Given the description of an element on the screen output the (x, y) to click on. 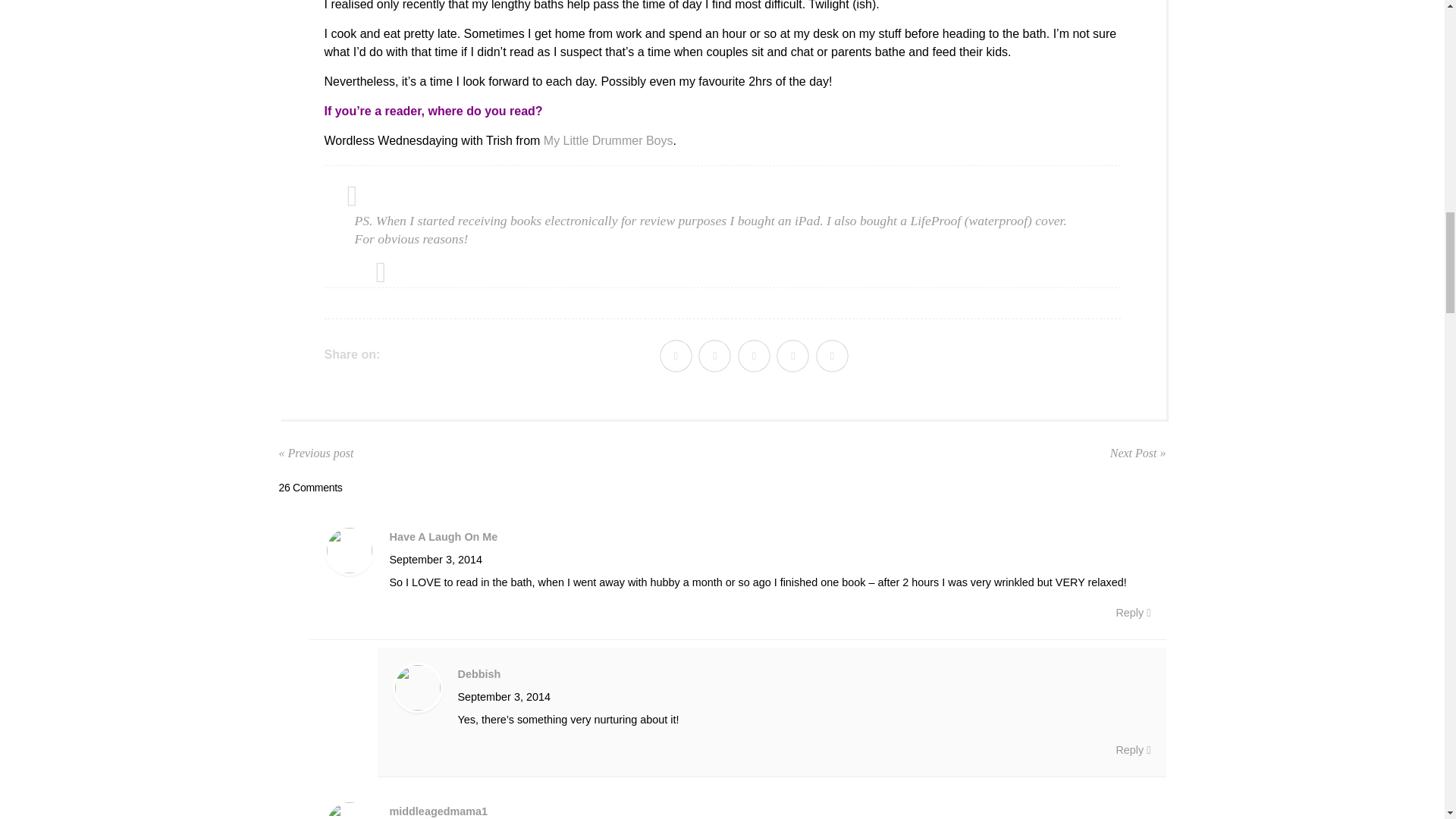
Debbish (479, 674)
Have A Laugh On Me (443, 536)
My Little Drummer Boys (607, 140)
Reply (1132, 749)
middleagedmama1 (438, 811)
Reply (1132, 612)
